Given the description of an element on the screen output the (x, y) to click on. 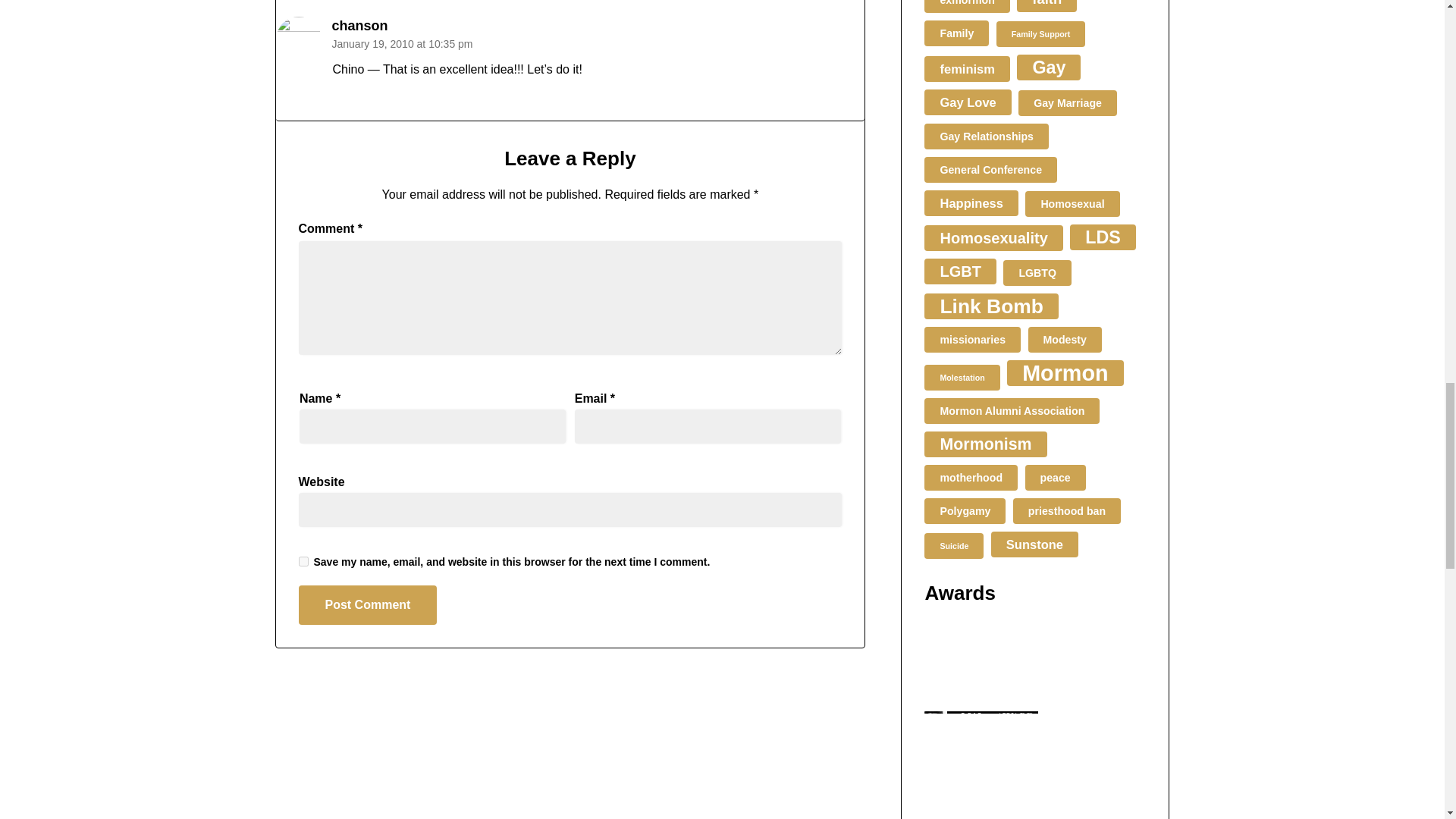
yes (303, 561)
chanson (359, 25)
Post Comment (368, 604)
January 19, 2010 at 10:35 pm (402, 43)
